Given the description of an element on the screen output the (x, y) to click on. 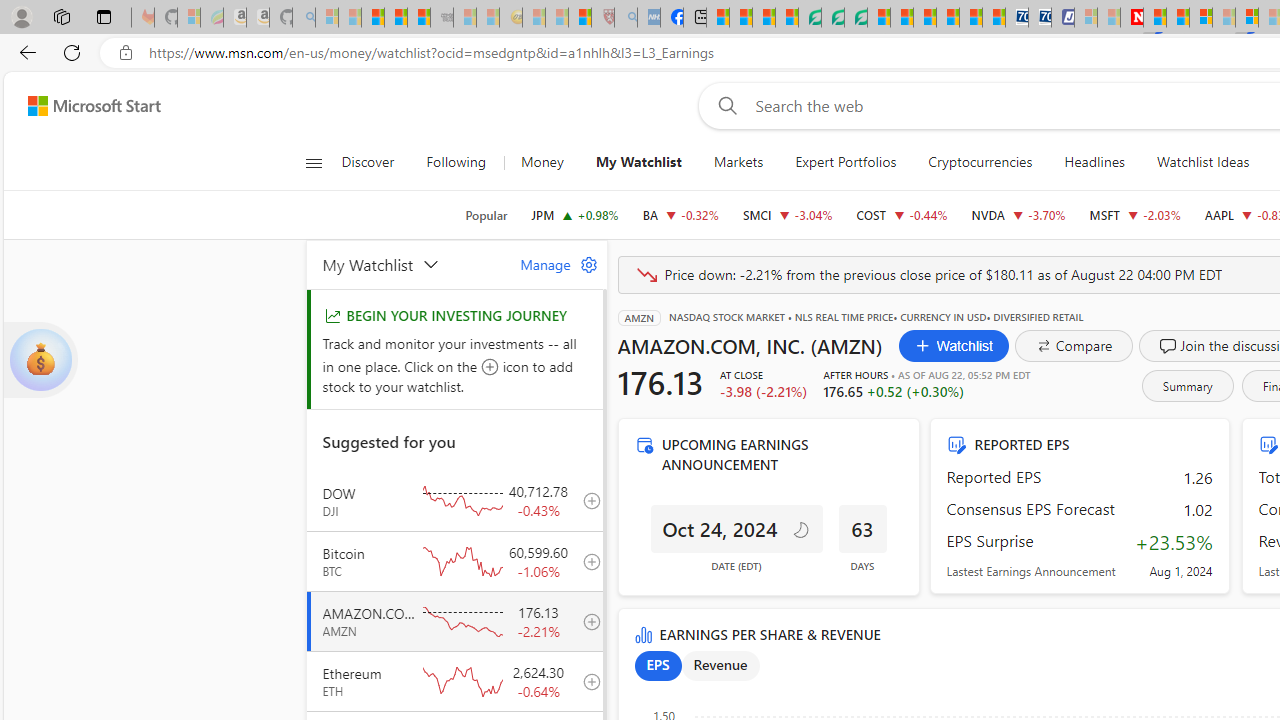
Microsoft account | Privacy - Sleeping (1085, 17)
MSNBC - MSN (717, 17)
Local - MSN (580, 17)
Revenue (720, 665)
Recipes - MSN - Sleeping (534, 17)
BA THE BOEING COMPANY decrease 172.87 -0.56 -0.32% (679, 214)
Markets (738, 162)
My Watchlist (637, 162)
Microsoft Word - consumer-privacy address update 2.2021 (855, 17)
